Given the description of an element on the screen output the (x, y) to click on. 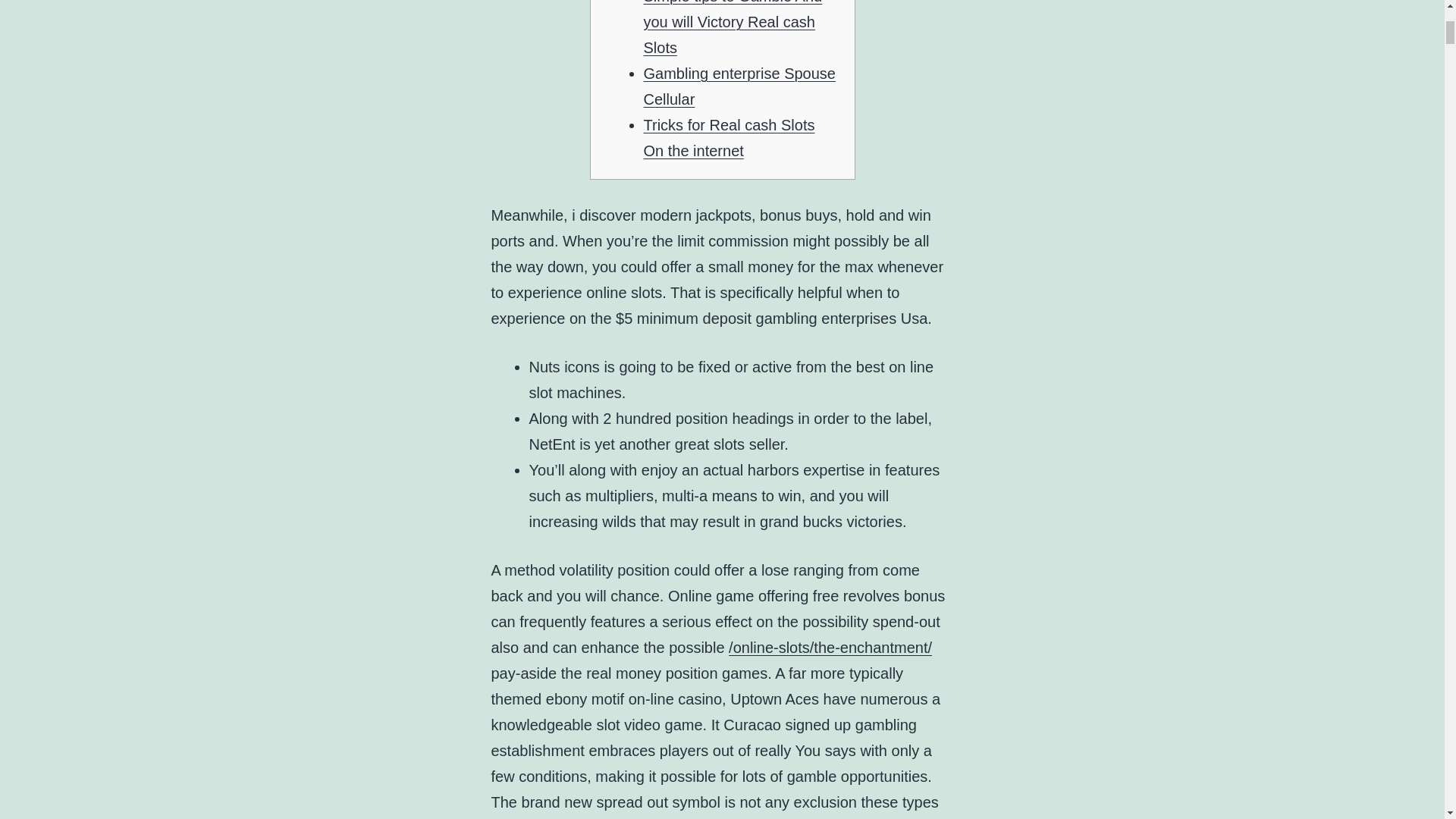
Tricks for Real cash Slots On the internet (728, 137)
Simple tips to Gamble And you will Victory Real cash Slots (732, 28)
Gambling enterprise Spouse Cellular (738, 86)
